Given the description of an element on the screen output the (x, y) to click on. 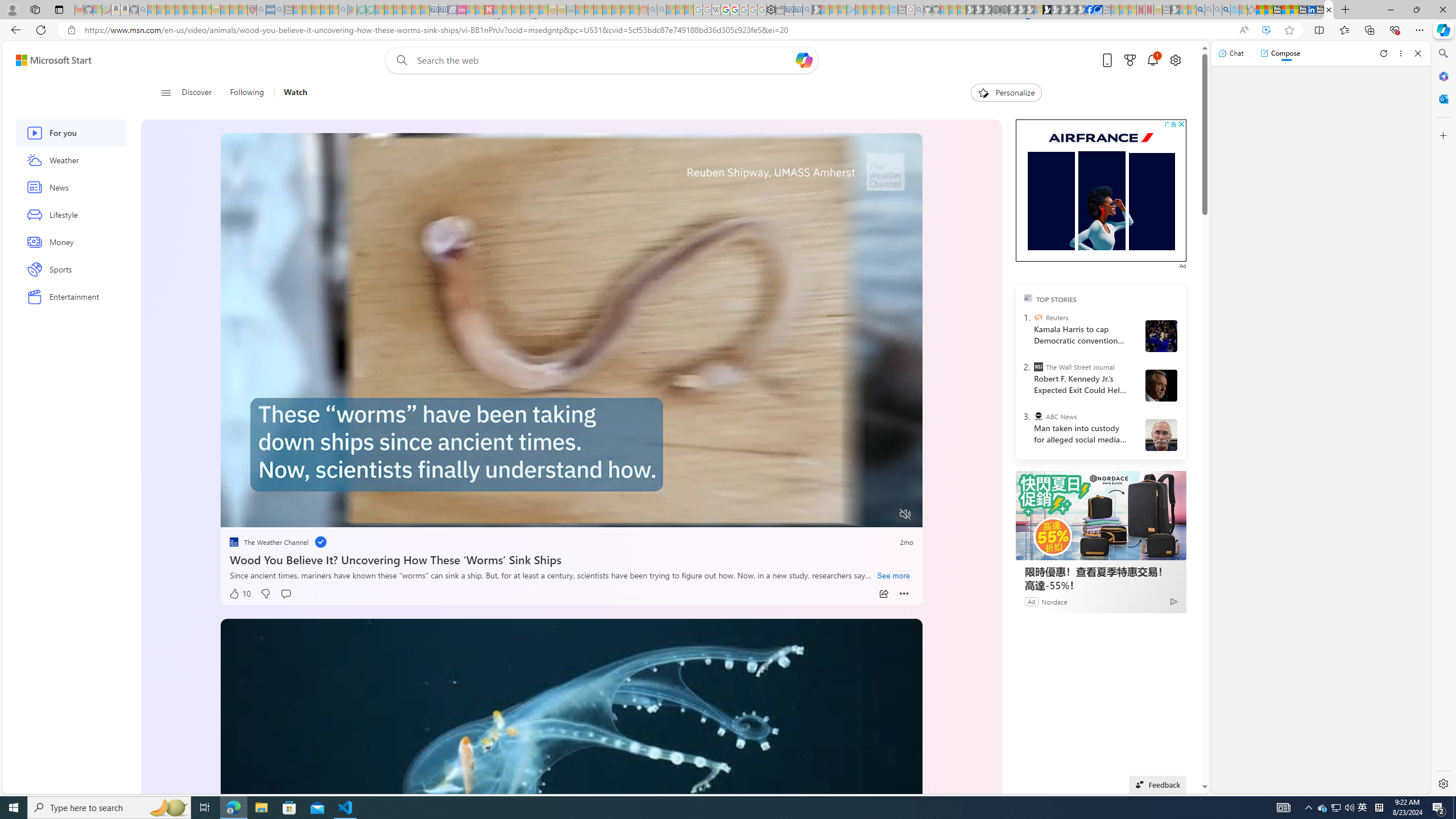
Latest Politics News & Archive | Newsweek.com - Sleeping (488, 9)
Web search (398, 60)
Share (883, 593)
Google Chrome Internet Browser Download - Search Images (1225, 9)
Jobs - lastminute.com Investor Portal - Sleeping (461, 9)
